Given the description of an element on the screen output the (x, y) to click on. 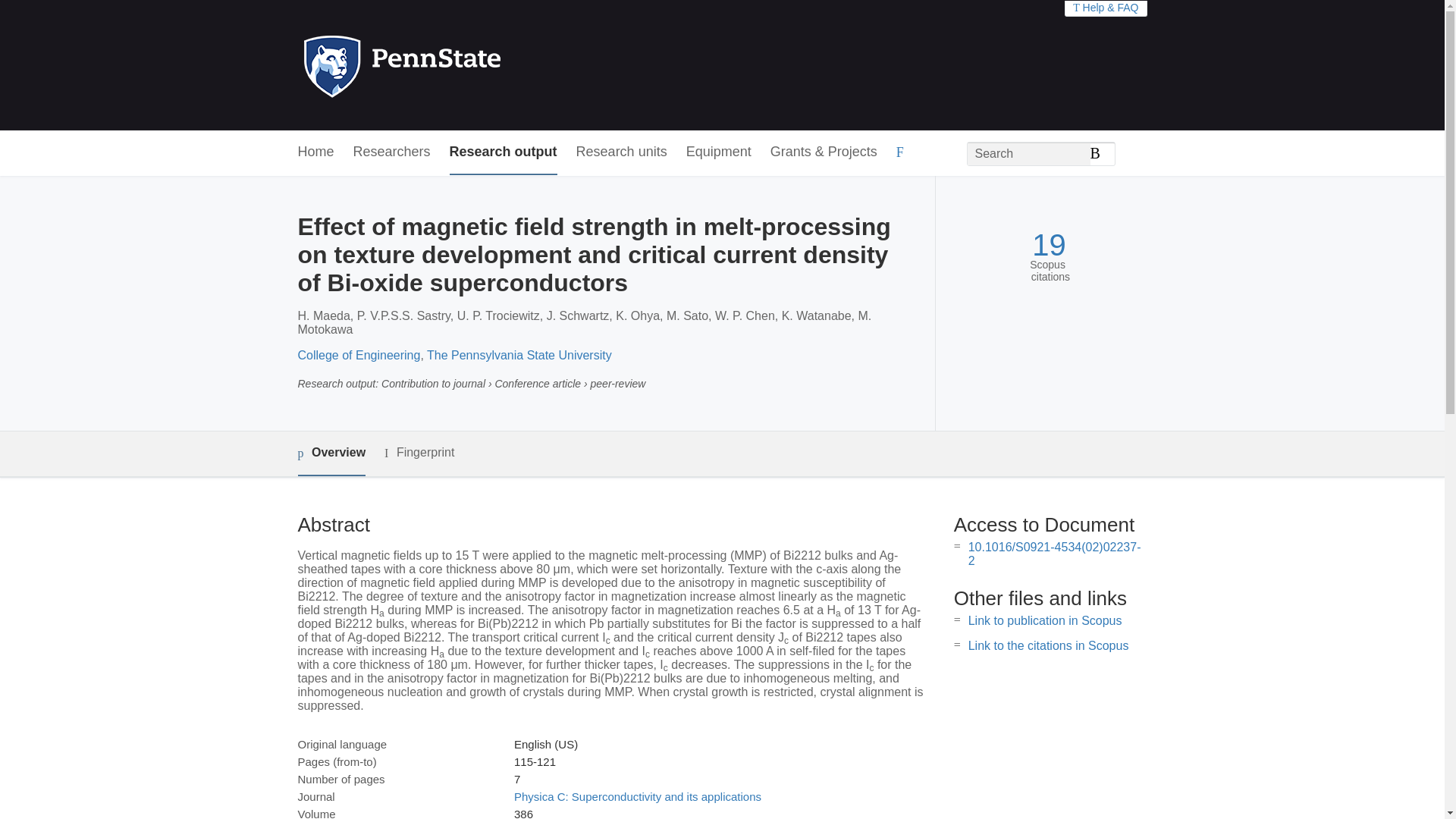
Physica C: Superconductivity and its applications (637, 796)
19 (1048, 244)
Overview (331, 453)
Research output (503, 152)
Penn State Home (467, 65)
Researchers (391, 152)
College of Engineering (358, 354)
The Pennsylvania State University (518, 354)
Equipment (718, 152)
Fingerprint (419, 453)
Research units (621, 152)
Link to the citations in Scopus (1048, 645)
Link to publication in Scopus (1045, 620)
